Given the description of an element on the screen output the (x, y) to click on. 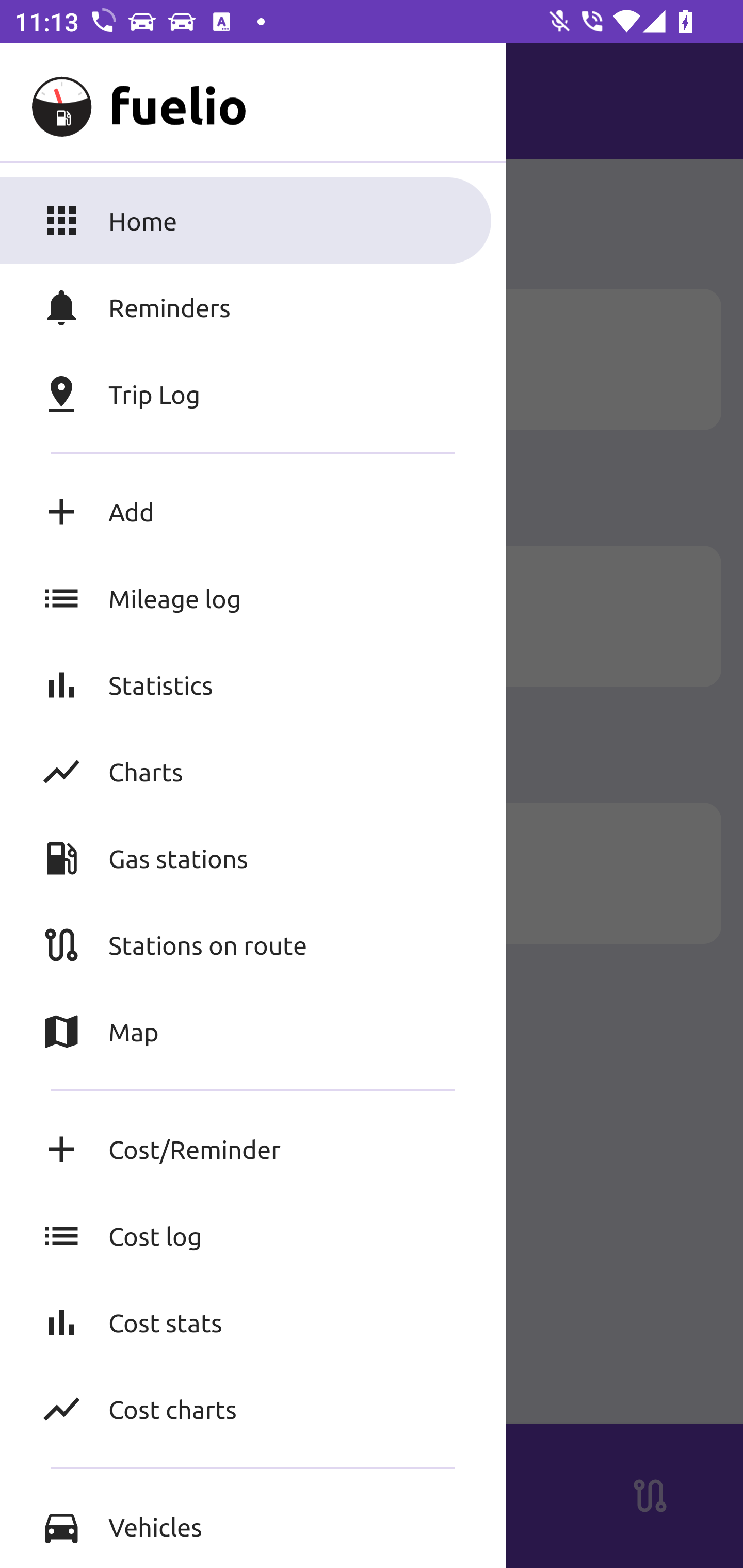
Fuelio (50, 101)
Home (252, 220)
Reminders (252, 307)
Trip Log (252, 394)
Add (252, 511)
Mileage log (252, 598)
Statistics (252, 684)
Charts (252, 771)
Gas stations (252, 858)
Stations on route (252, 944)
Map (252, 1031)
Cost/Reminder (252, 1149)
Cost log (252, 1236)
Cost stats (252, 1322)
Cost charts (252, 1408)
Vehicles (252, 1525)
